Given the description of an element on the screen output the (x, y) to click on. 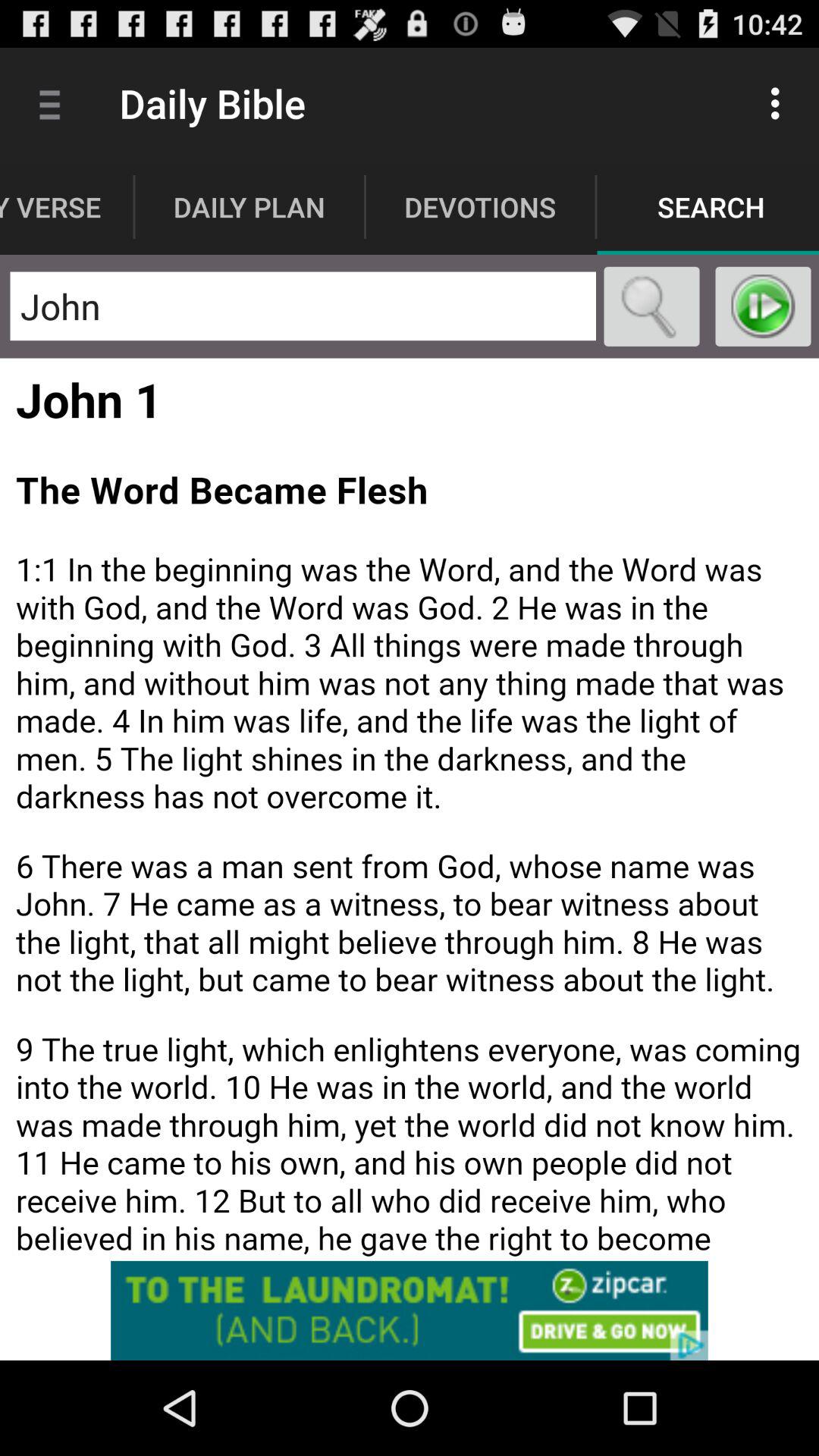
search button (651, 306)
